Given the description of an element on the screen output the (x, y) to click on. 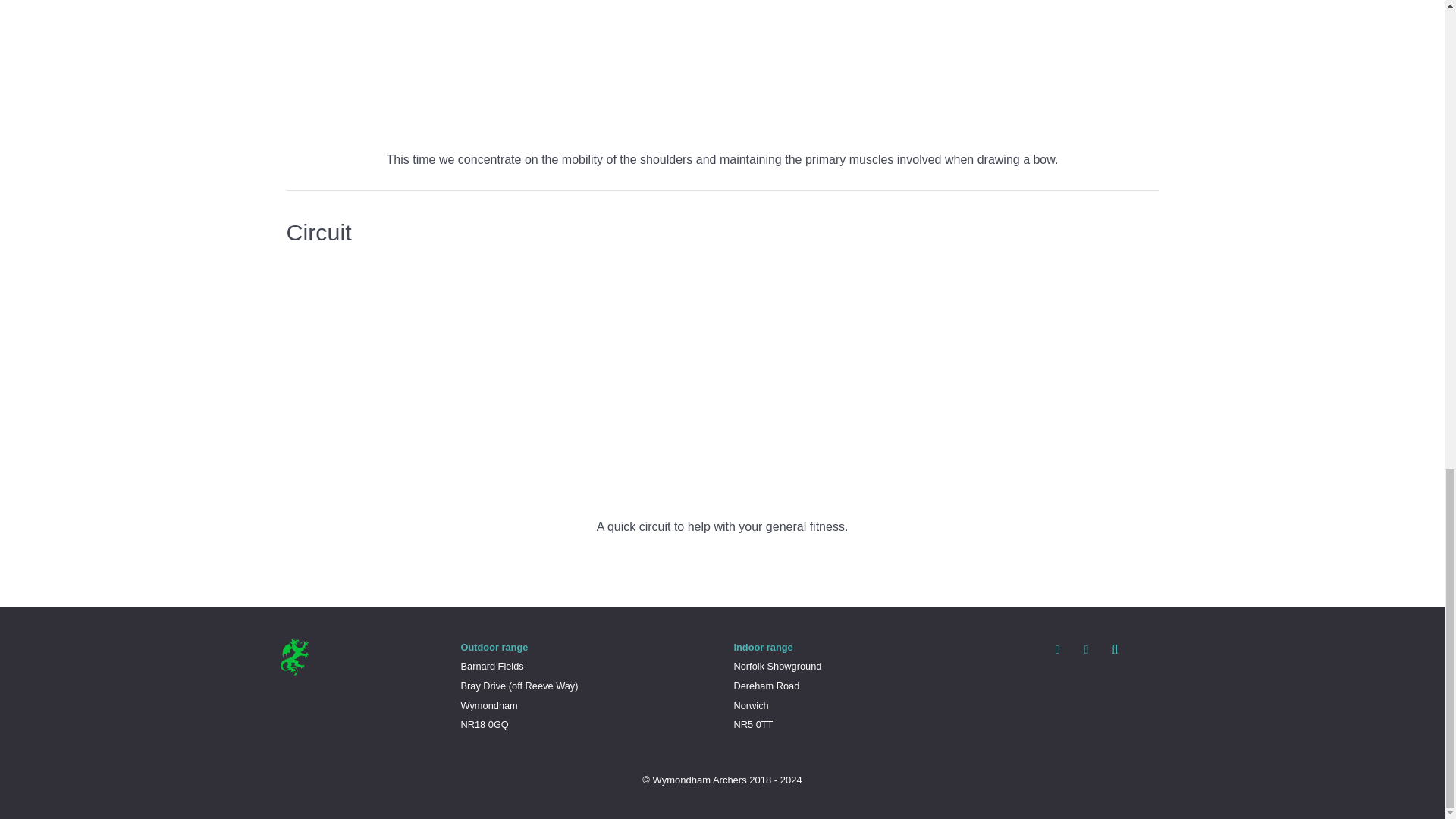
Outdoor range (494, 646)
Indoor range (763, 646)
Search (1114, 649)
